Given the description of an element on the screen output the (x, y) to click on. 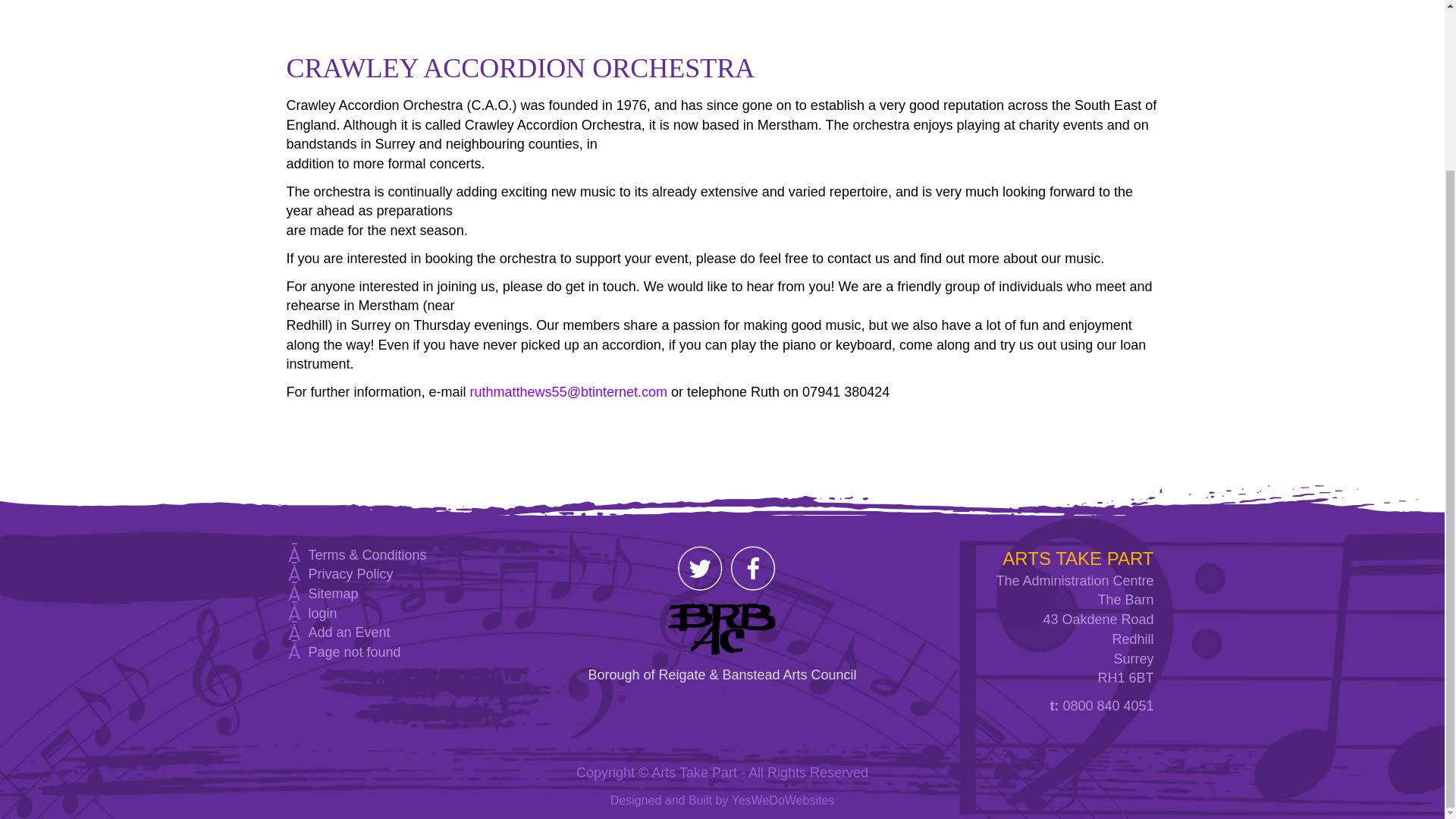
Page not found (353, 652)
Add an Event (348, 631)
Sitemap (332, 593)
Privacy Policy (350, 573)
login (321, 613)
YesWeDoWebsites (783, 799)
